Given the description of an element on the screen output the (x, y) to click on. 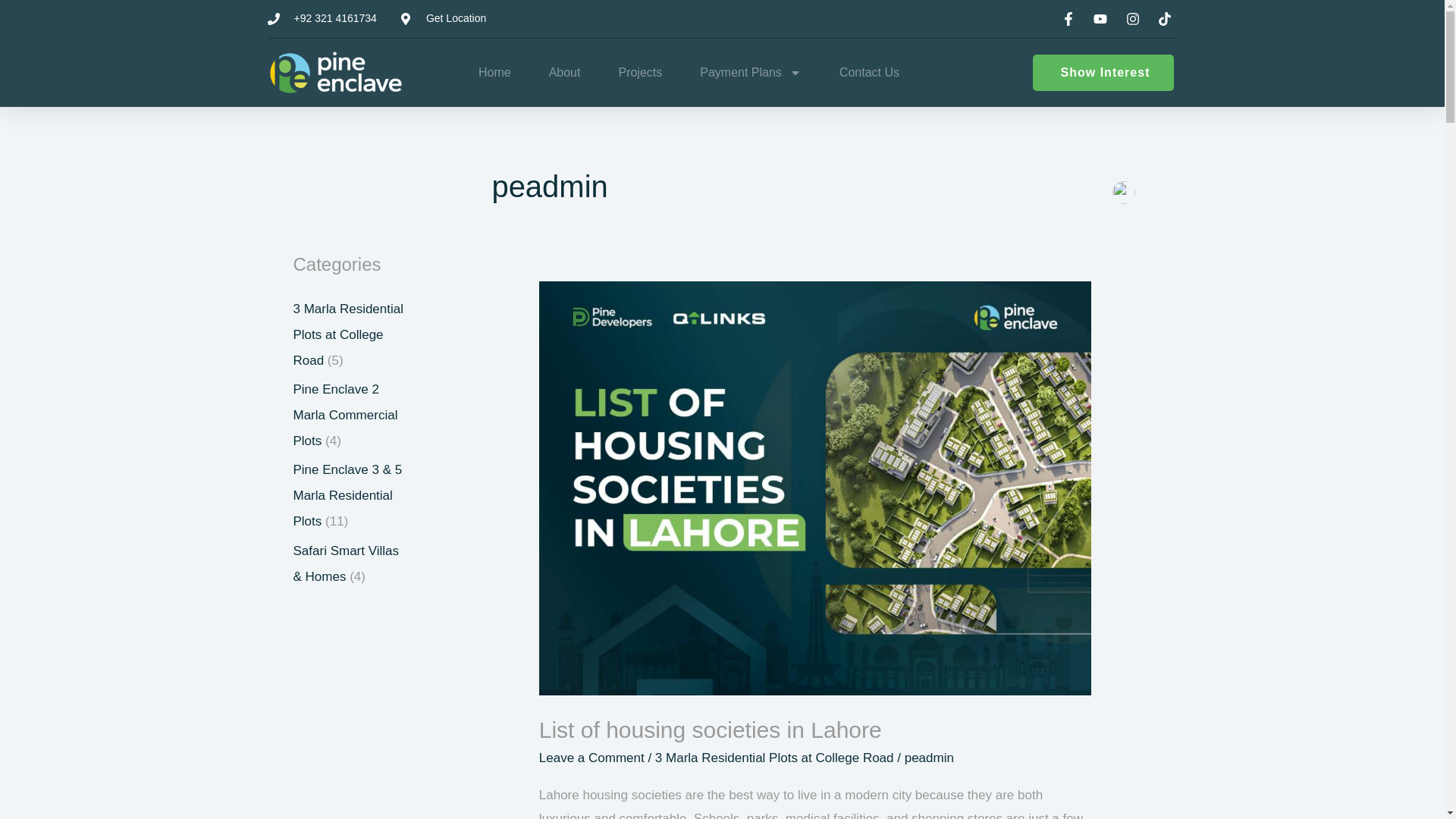
Pine Enclave 2 Marla Commercial Plots (344, 414)
Projects (639, 72)
3 Marla Residential Plots at College Road (347, 334)
About (564, 72)
Get Location (442, 18)
View all posts by peadmin (928, 757)
Payment Plans (751, 72)
Contact Us (869, 72)
Show Interest (1103, 72)
Home (495, 72)
